Given the description of an element on the screen output the (x, y) to click on. 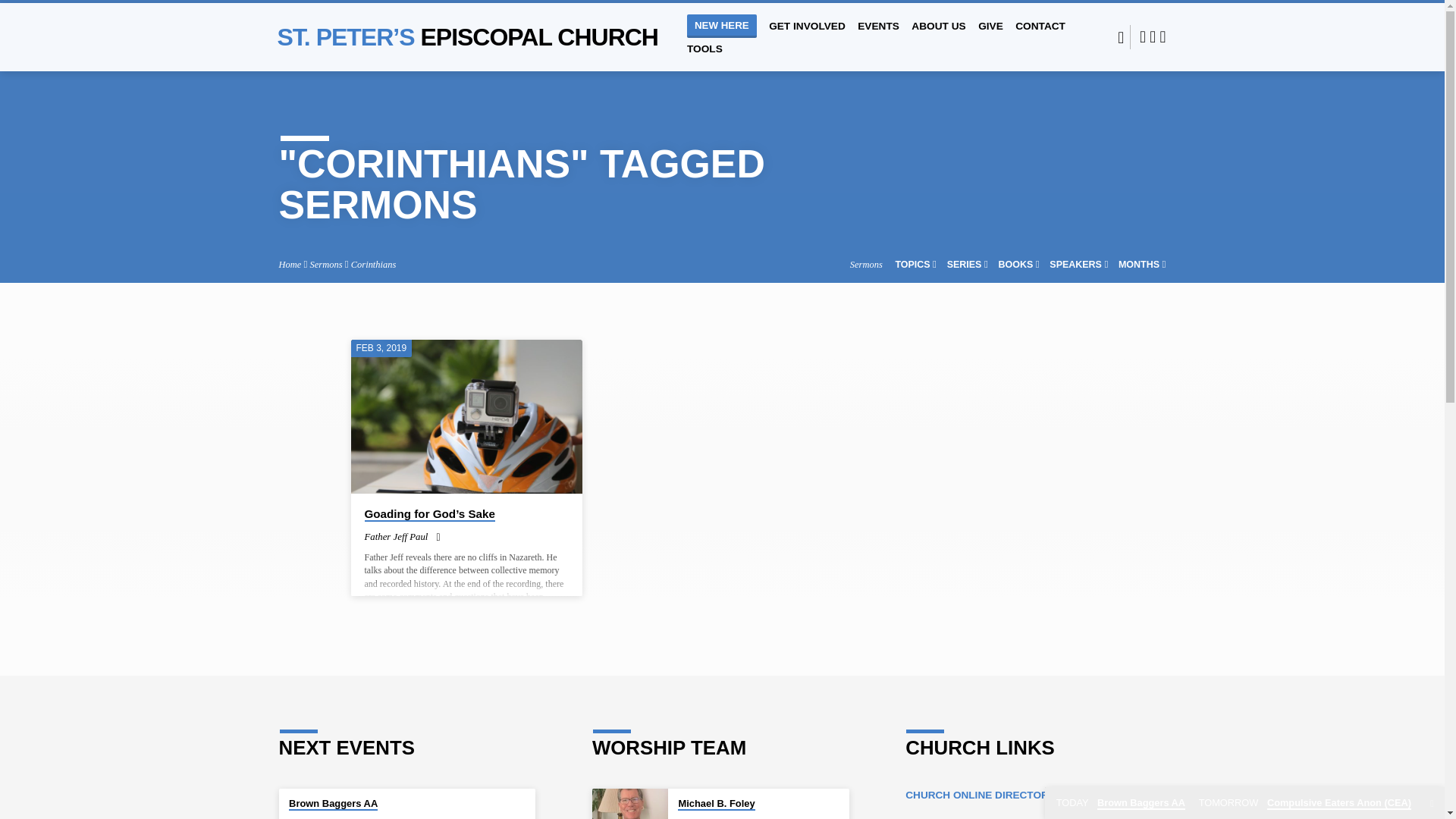
EVENTS (878, 35)
ABOUT US (938, 35)
Brown Baggers AA (332, 803)
CONTACT (1039, 35)
TOOLS (704, 58)
NEW HERE (722, 25)
GET INVOLVED (806, 35)
